Given the description of an element on the screen output the (x, y) to click on. 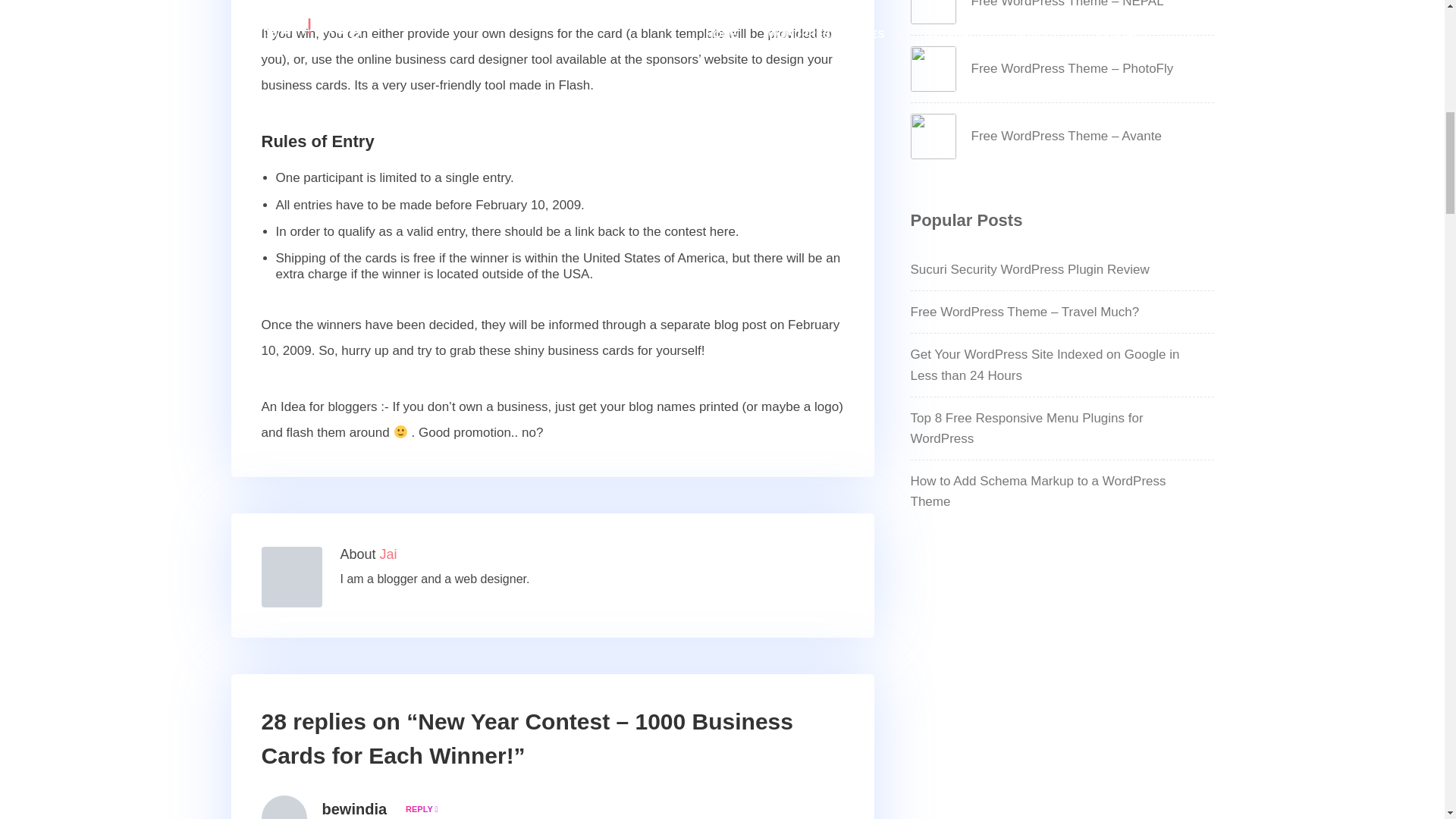
Jai (388, 554)
REPLY (419, 809)
